Given the description of an element on the screen output the (x, y) to click on. 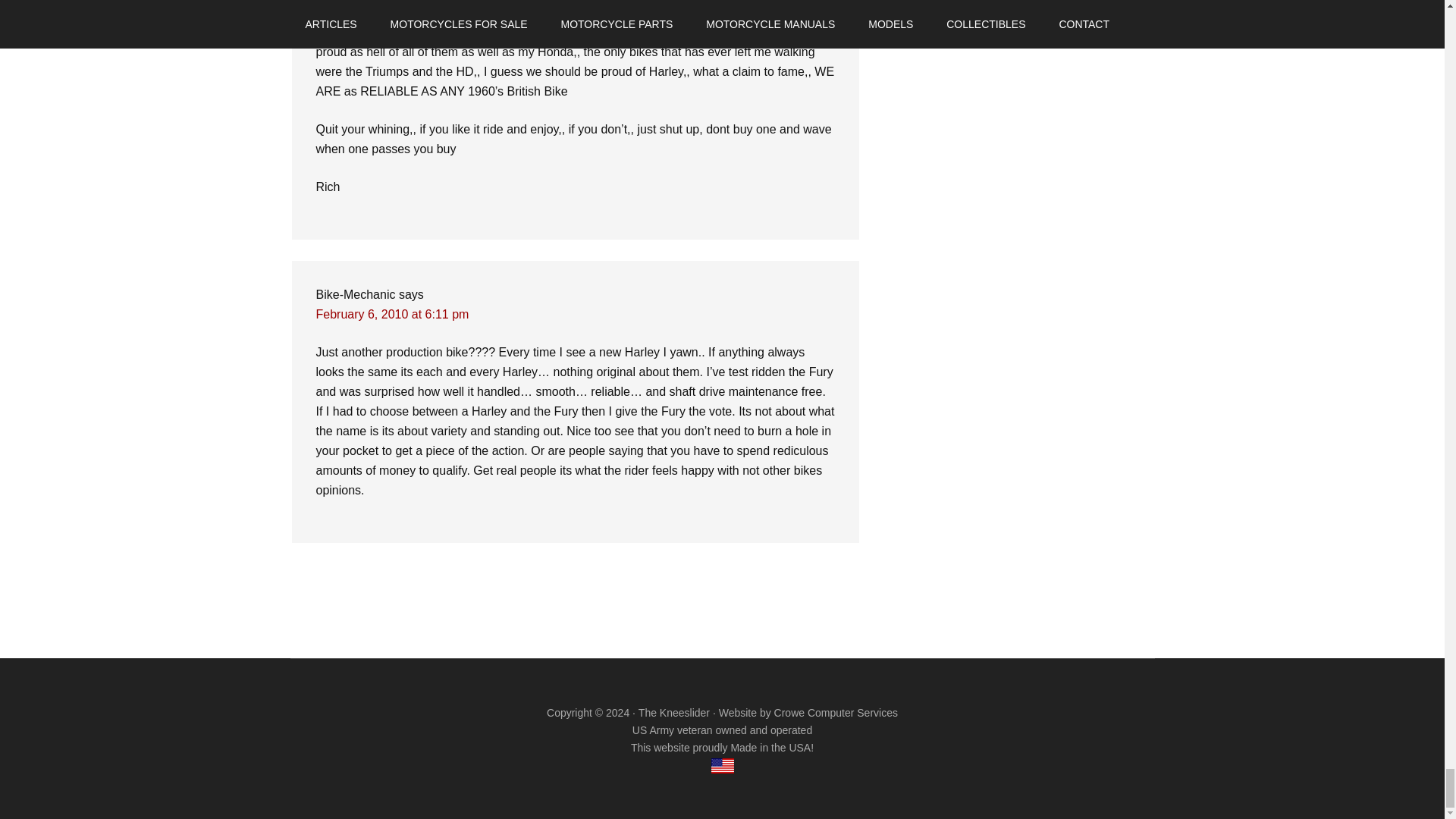
Made in the USA (722, 765)
